Given the description of an element on the screen output the (x, y) to click on. 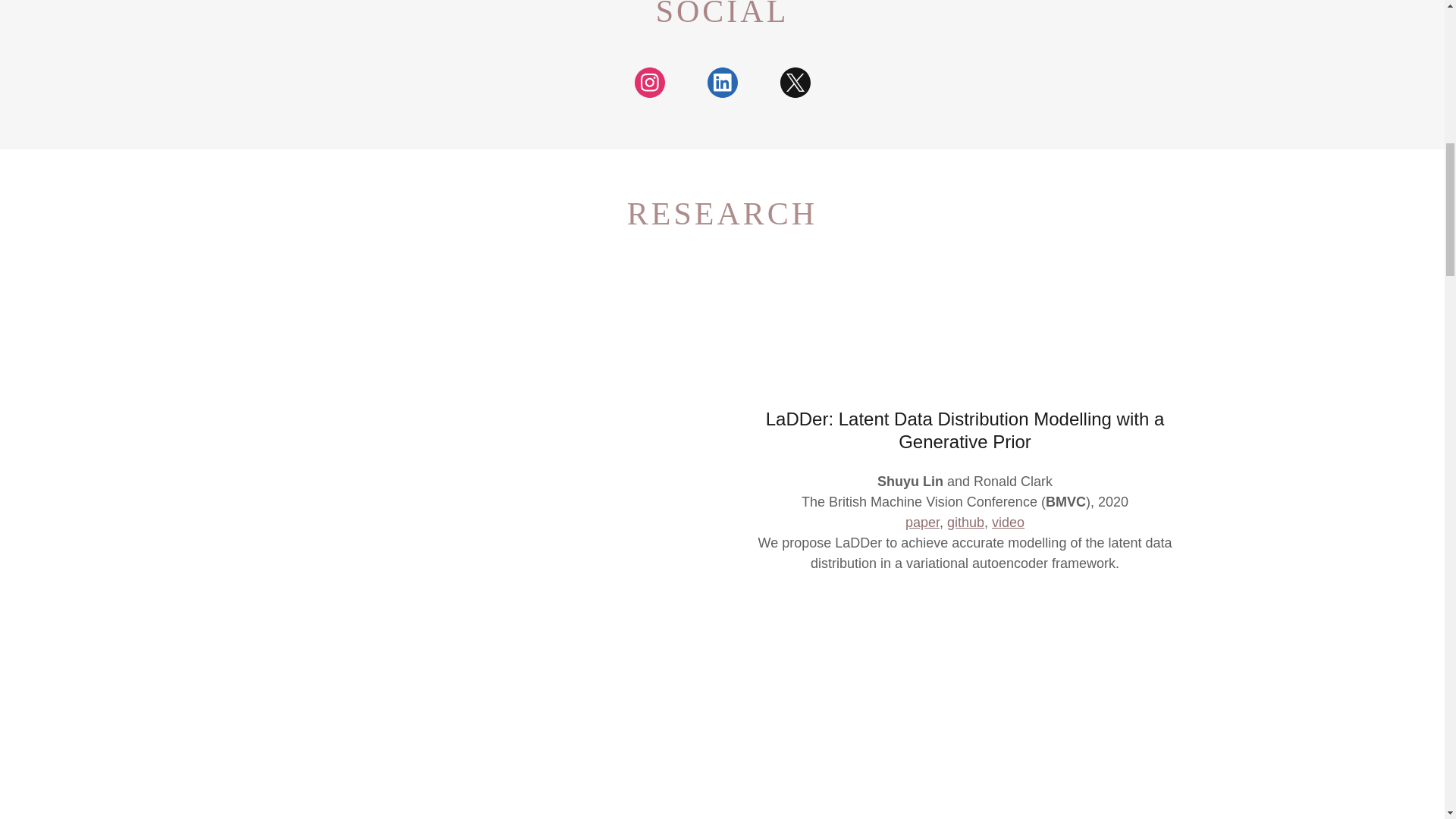
github (965, 522)
video (1008, 522)
paper (922, 522)
